Given the description of an element on the screen output the (x, y) to click on. 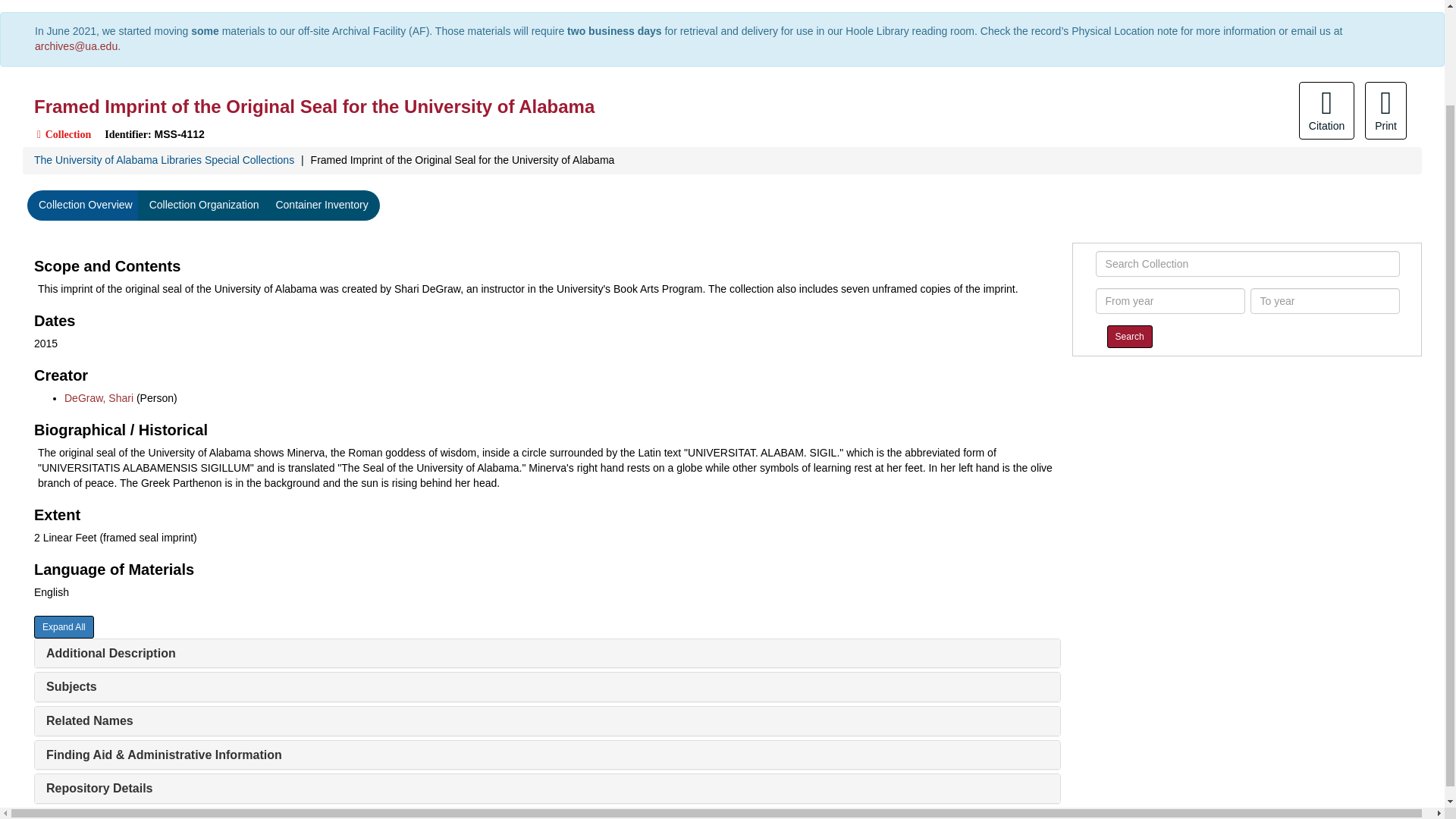
Collection Organization (204, 205)
DeGraw, Shari (98, 398)
Repository Details (99, 788)
Related Names (89, 720)
Citation (1326, 110)
Expand All (63, 626)
Search (1129, 336)
Collection Overview (85, 205)
Container Inventory (320, 205)
Additional Description (111, 653)
